Given the description of an element on the screen output the (x, y) to click on. 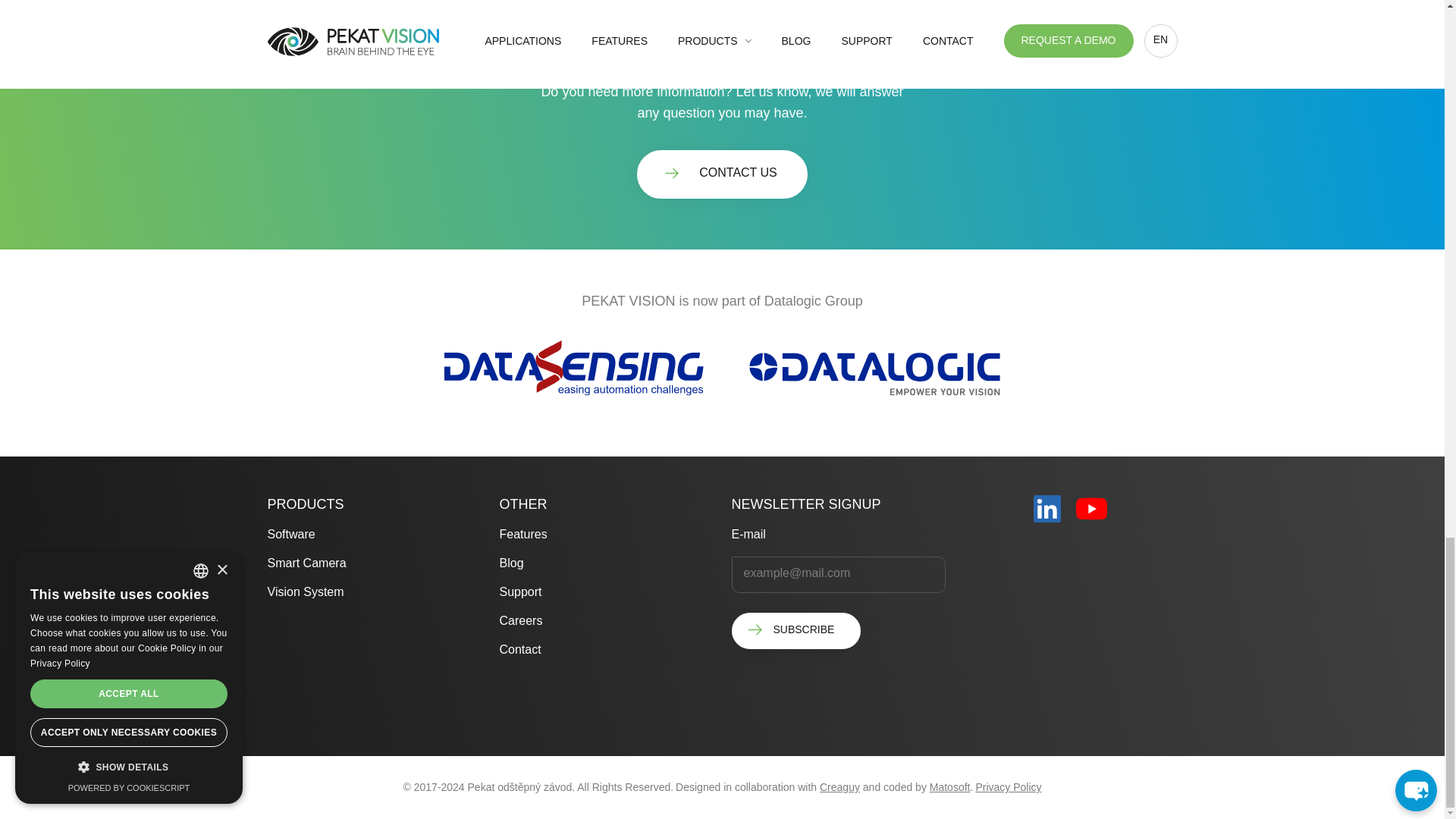
Subscribe (795, 630)
' (671, 173)
Subscribe (795, 630)
Careers (520, 620)
Smart Camera (306, 562)
Support (722, 174)
Features (520, 591)
Contact (523, 533)
Software (519, 649)
Vision System (290, 533)
Blog (304, 591)
